Given the description of an element on the screen output the (x, y) to click on. 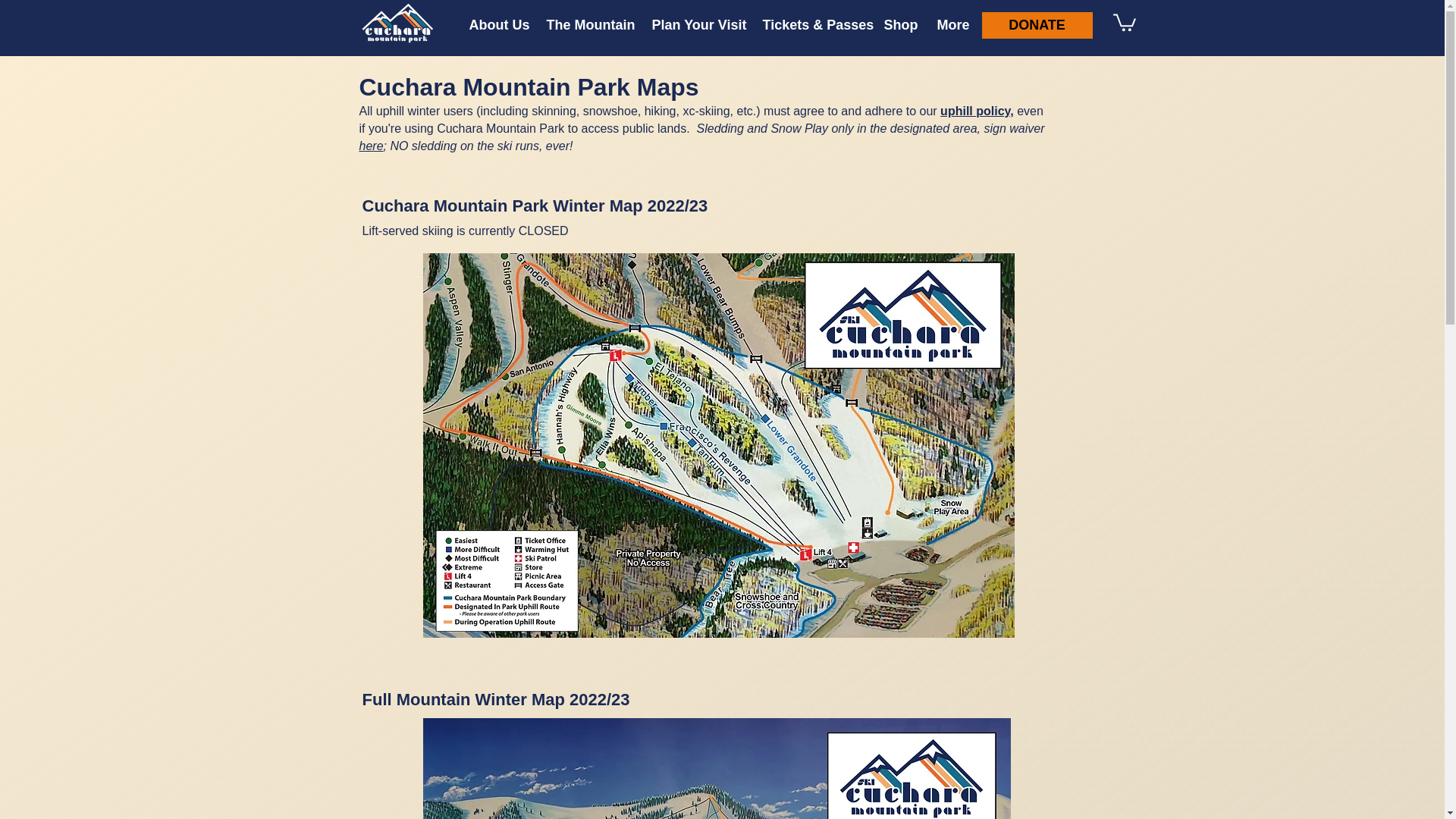
here (371, 145)
DONATE (1036, 25)
Shop (898, 25)
uphill policy, (976, 110)
